Given the description of an element on the screen output the (x, y) to click on. 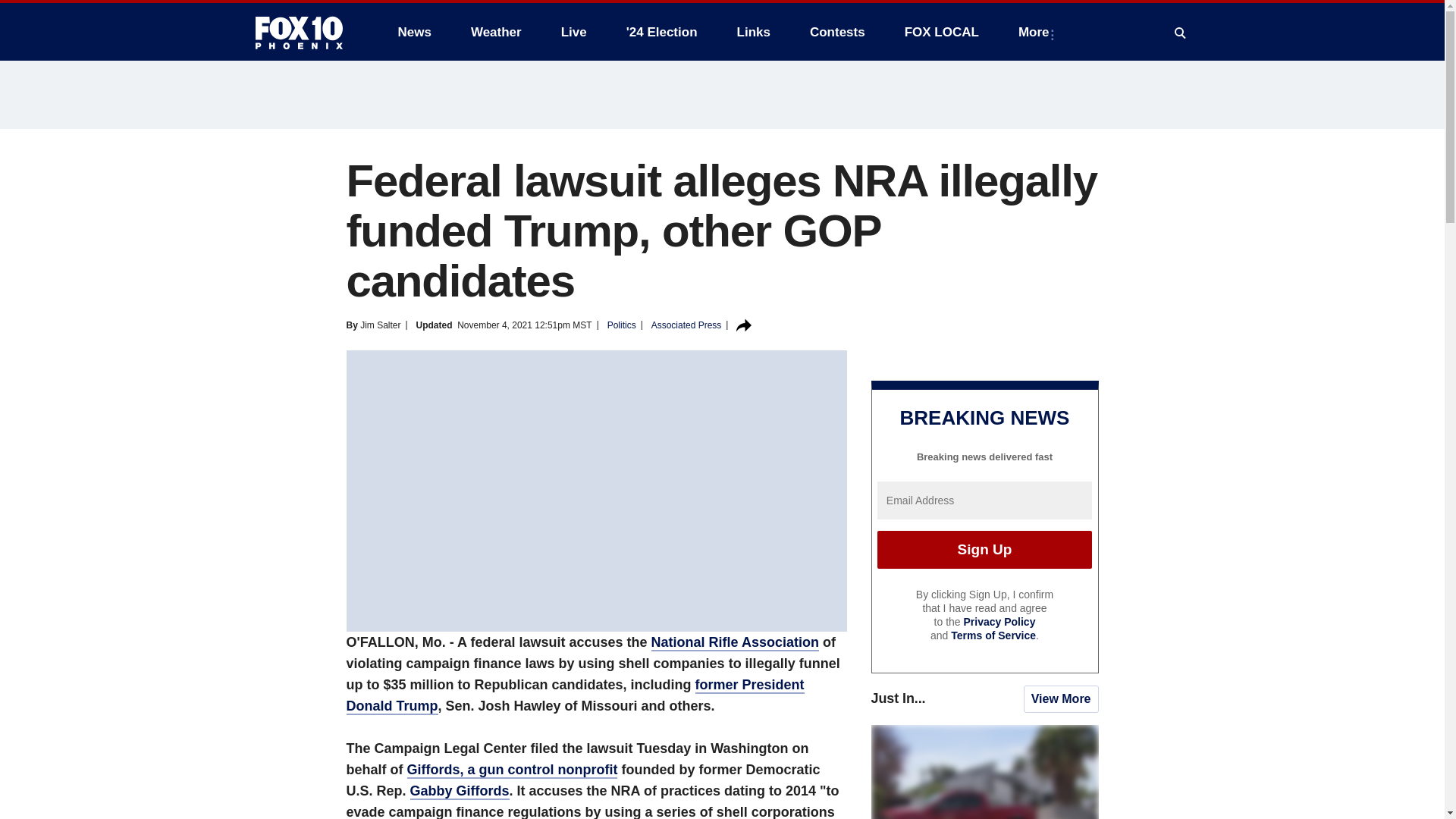
FOX LOCAL (941, 32)
Contests (837, 32)
Links (754, 32)
Weather (496, 32)
News (413, 32)
Live (573, 32)
More (1036, 32)
'24 Election (662, 32)
Sign Up (984, 549)
